Given the description of an element on the screen output the (x, y) to click on. 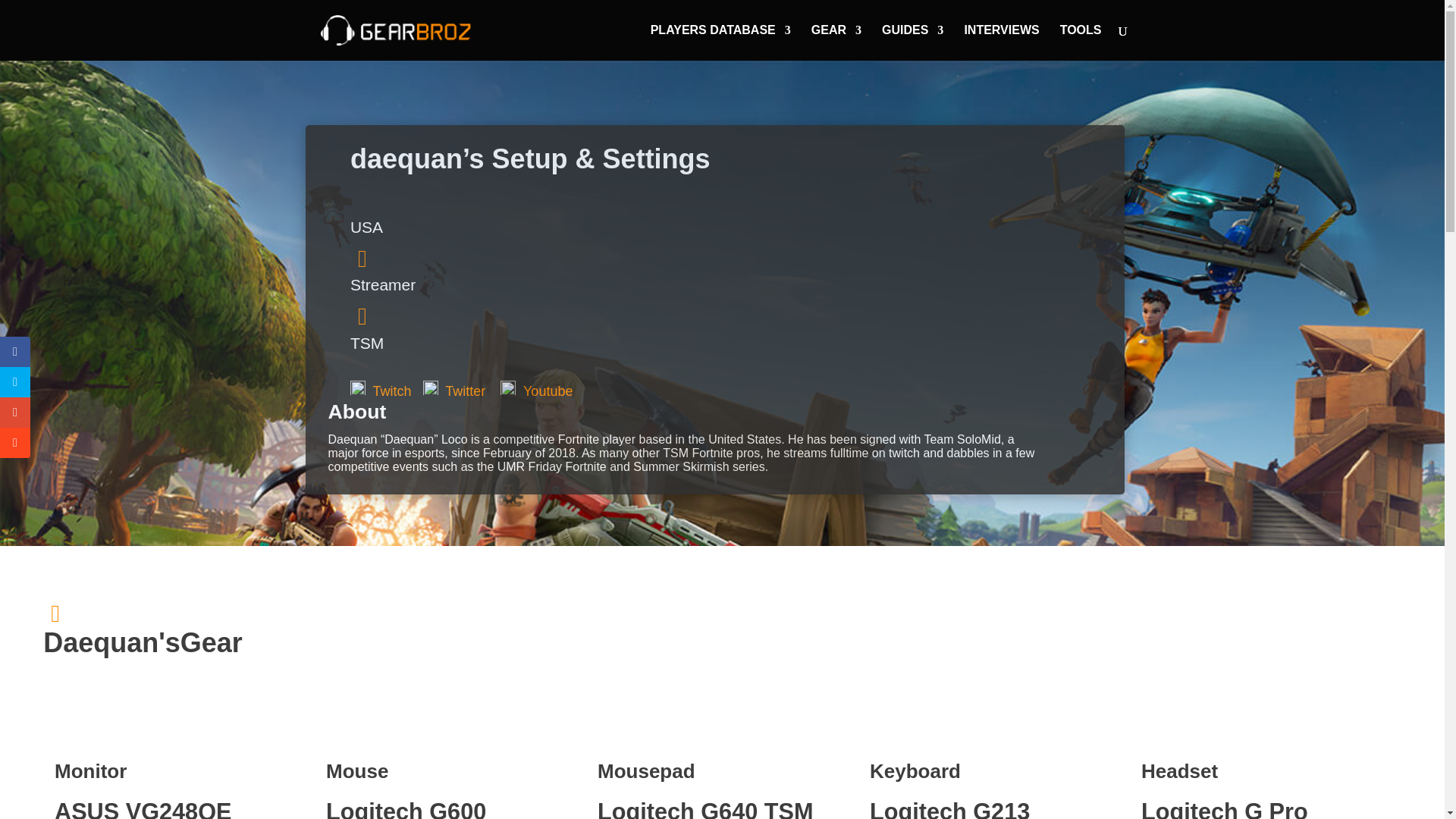
INTERVIEWS (1001, 42)
GEAR (835, 42)
TOOLS (1080, 42)
PLAYERS DATABASE (720, 42)
GUIDES (912, 42)
